Given the description of an element on the screen output the (x, y) to click on. 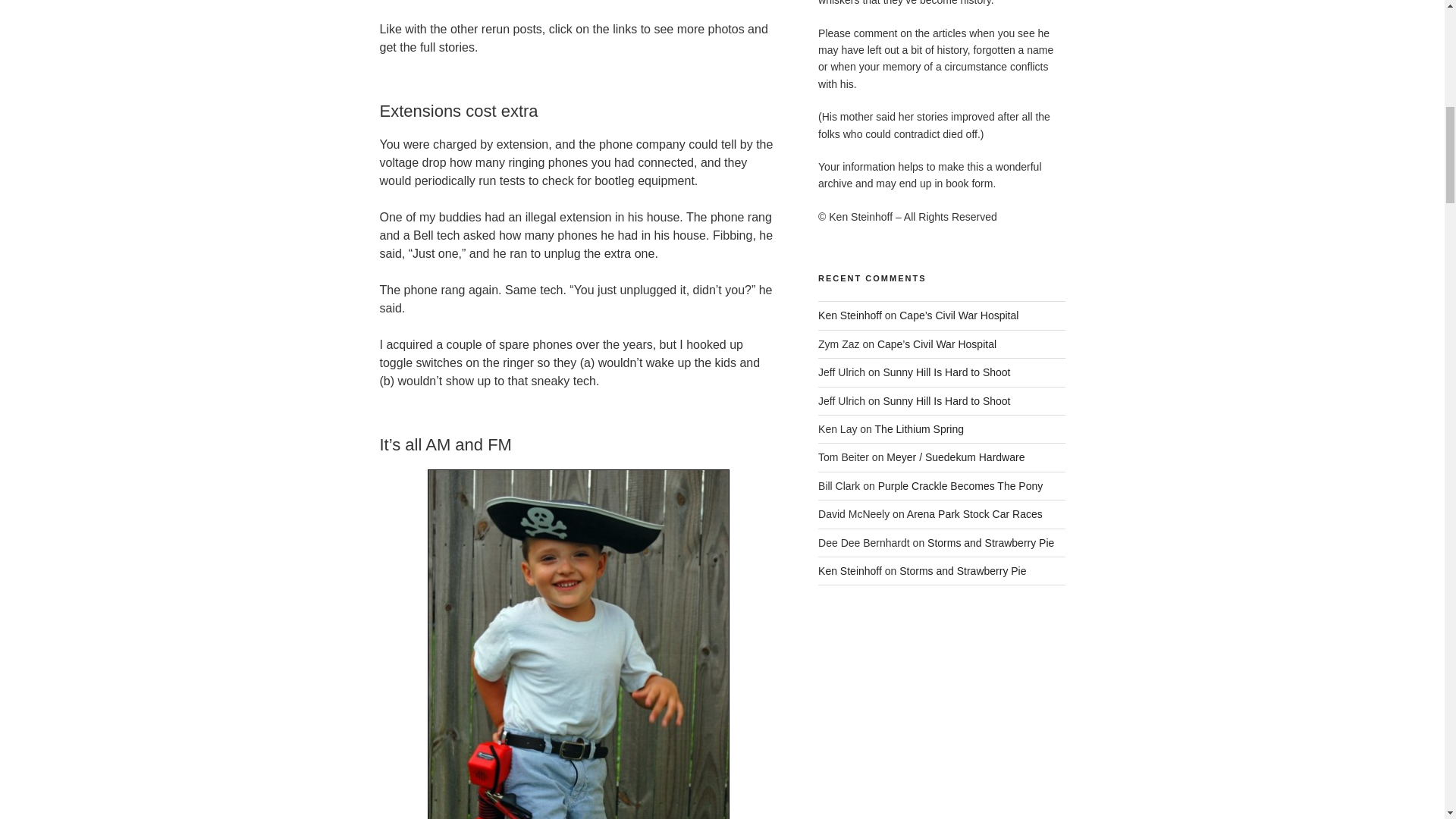
Ken Steinhoff (850, 571)
Sunny Hill Is Hard to Shoot (946, 400)
Storms and Strawberry Pie (990, 542)
Ken Steinhoff (850, 315)
Sunny Hill Is Hard to Shoot (946, 372)
The Lithium Spring (919, 428)
Purple Crackle Becomes The Pony (960, 485)
Arena Park Stock Car Races (974, 513)
Storms and Strawberry Pie (962, 571)
